Given the description of an element on the screen output the (x, y) to click on. 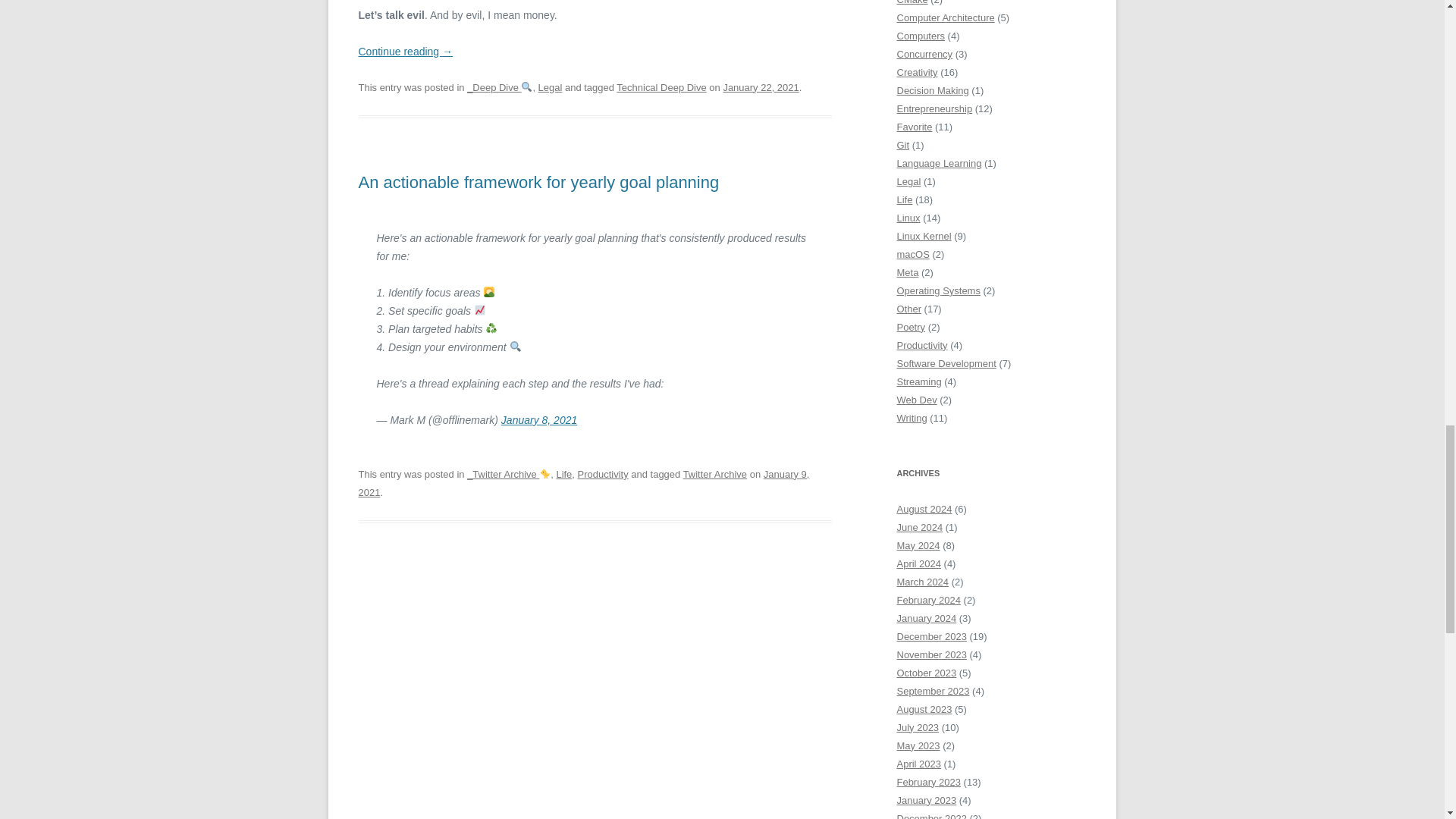
January 9, 2021 (583, 482)
Legal (550, 87)
January 8, 2021 (538, 419)
2:50 pm (759, 87)
January 22, 2021 (759, 87)
Technical Deep Dive (660, 87)
Productivity (603, 473)
11:59 am (583, 482)
Twitter Archive (714, 473)
Life (564, 473)
